Given the description of an element on the screen output the (x, y) to click on. 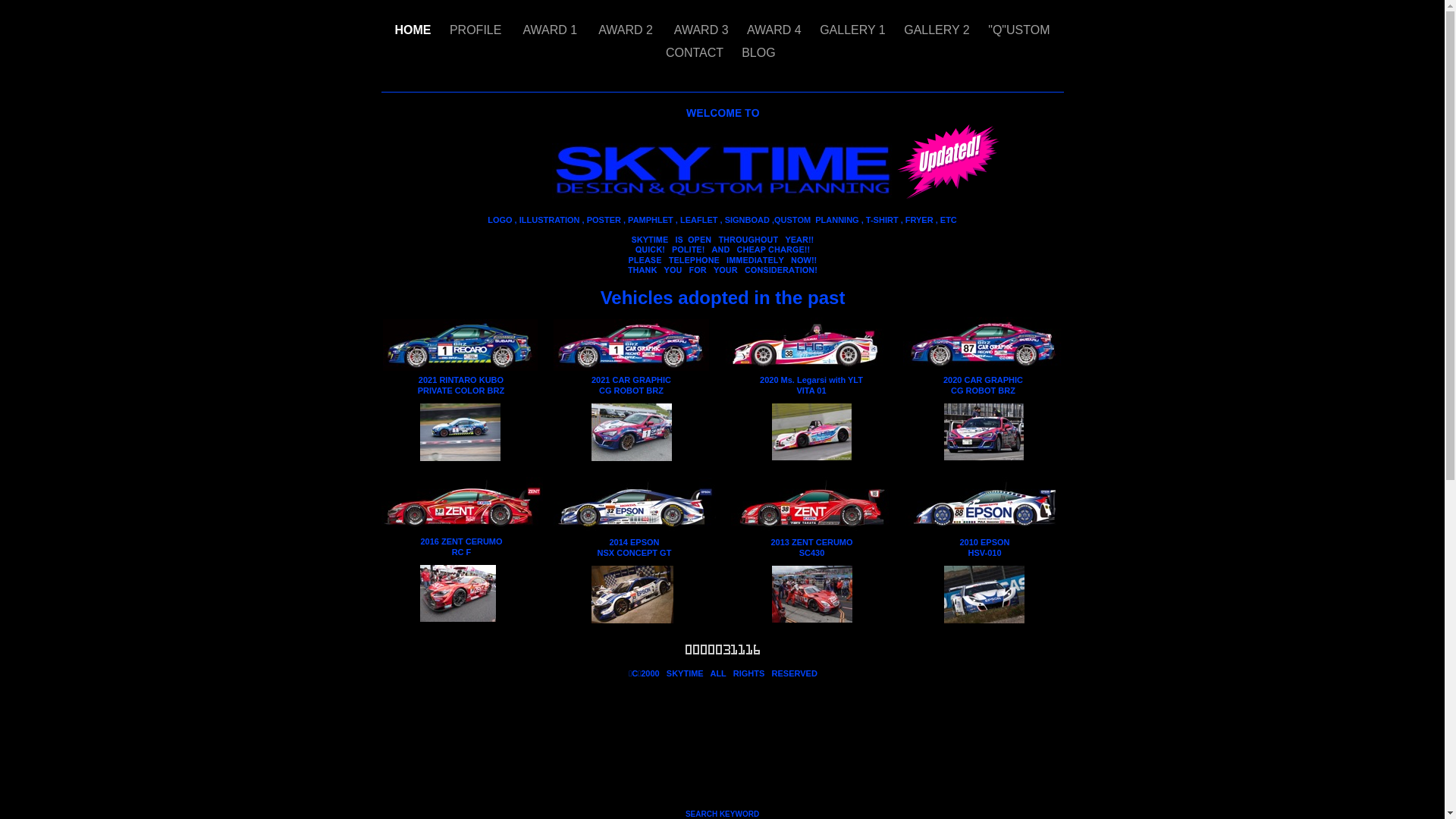
HOME_files/2014EPSON_1.jpg Element type: hover (634, 530)
 AWARD 1 Element type: text (550, 29)
HOME_files/2020CG-BRZ_1.jpg Element type: hover (982, 369)
CONTACT Element type: text (695, 52)
HOME_files/2021#1brz.jpg Element type: hover (631, 460)
BLOG  Element type: text (759, 52)
HOME_files/2021kubo private_1.jpg Element type: hover (459, 370)
HOME_files/2020VITA 01-2_1.jpg Element type: hover (805, 370)
PROFILE Element type: text (477, 29)
"Q"USTOM Element type: text (1018, 29)
HOME_files/2016RCF_1.jpg Element type: hover (457, 621)
HOME_files/2013ZENT_1.jpg Element type: hover (812, 530)
HOME_files/focal01_1.jpg Element type: hover (811, 459)
HOME Element type: text (413, 29)
 AWARD 3 Element type: text (701, 29)
HOME_files/2016ZENT_1.jpg Element type: hover (461, 529)
HOME_files/2010EPSON_1.jpg Element type: hover (983, 529)
HOME_files/2010hsv_1.jpg Element type: hover (983, 622)
HOME_files/2014nsxconcept_1.jpg Element type: hover (632, 622)
HOME_files/2021BRZ#1top.jpg Element type: hover (631, 370)
 AWARD 2 Element type: text (626, 29)
GALLERY 2 Element type: text (937, 29)
HOME_files/C-001_1.jpg Element type: hover (982, 459)
GALLERY 1 Element type: text (853, 29)
HOME_files/2013-sc430_1.jpg Element type: hover (811, 621)
HOME_files/2021KUBOprivateCOLOR_1.jpg Element type: hover (460, 460)
AWARD 4 Element type: text (775, 29)
